Given the description of an element on the screen output the (x, y) to click on. 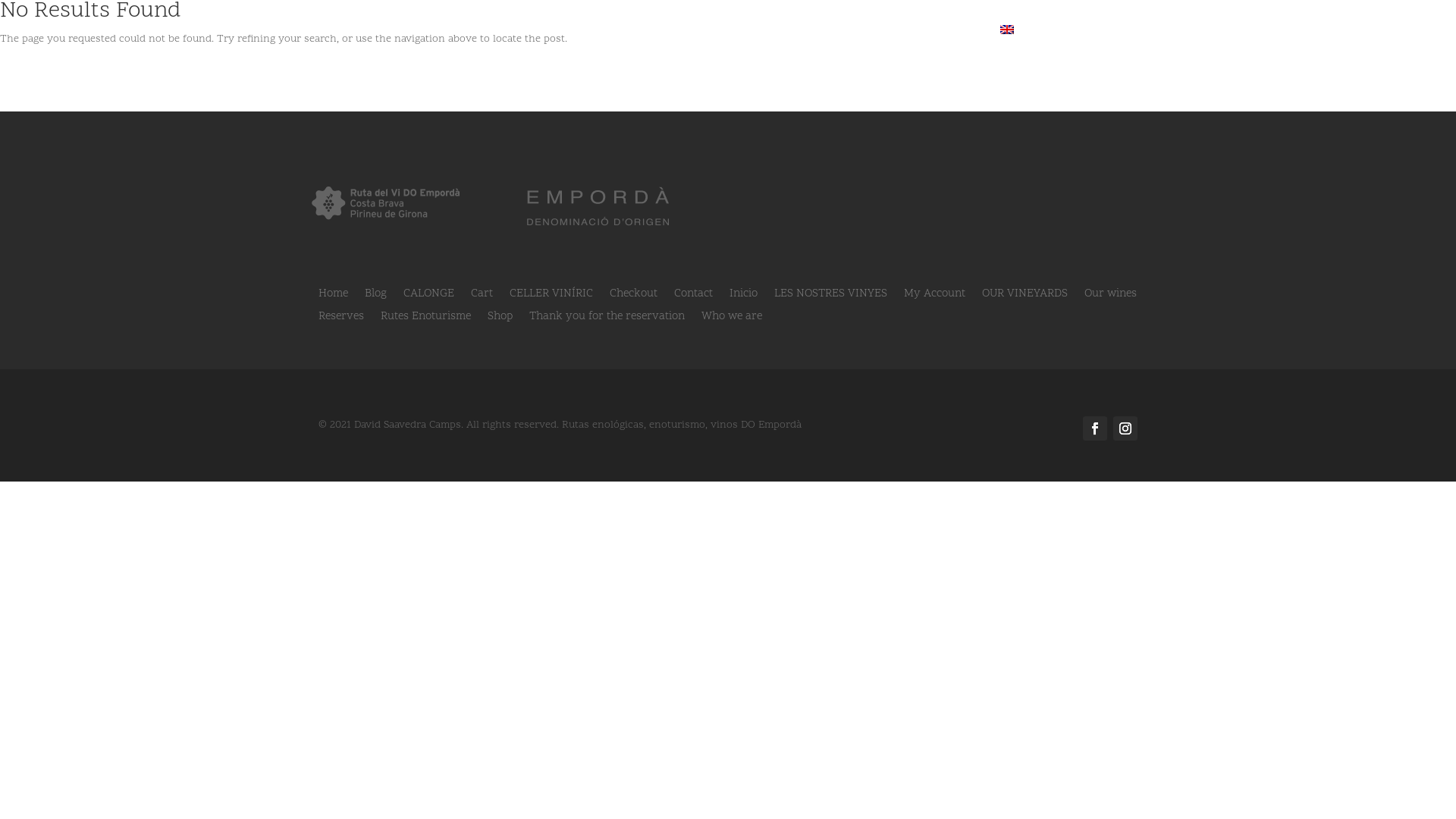
OUR WINES Element type: text (494, 42)
ABOUT US Element type: text (686, 42)
HOME Element type: text (430, 42)
do-emporda-viniric Element type: hover (598, 206)
Follow on Facebook Element type: hover (1094, 428)
OUR VINEYARDS Element type: text (1024, 296)
ruta-vi-do-emporda-viniric Element type: hover (385, 202)
Home Element type: text (333, 296)
Who we are Element type: text (731, 319)
WINE TOURISM Element type: text (588, 42)
Rutes Enoturisme Element type: text (425, 319)
Reserves Element type: text (341, 319)
Our wines Element type: text (1110, 296)
ENGLISH Element type: text (1038, 42)
Shop Element type: text (499, 319)
Follow on Instagram Element type: hover (1125, 428)
Blog Element type: text (375, 296)
Thank you for the reservation Element type: text (606, 319)
LES NOSTRES VINYES Element type: text (830, 296)
Inicio Element type: text (743, 296)
SHOP Element type: text (966, 42)
Checkout Element type: text (633, 296)
CONTACT Element type: text (907, 42)
Contact Element type: text (693, 296)
My Account Element type: text (934, 296)
Cart Element type: text (481, 296)
CALONGE Element type: text (428, 296)
